Given the description of an element on the screen output the (x, y) to click on. 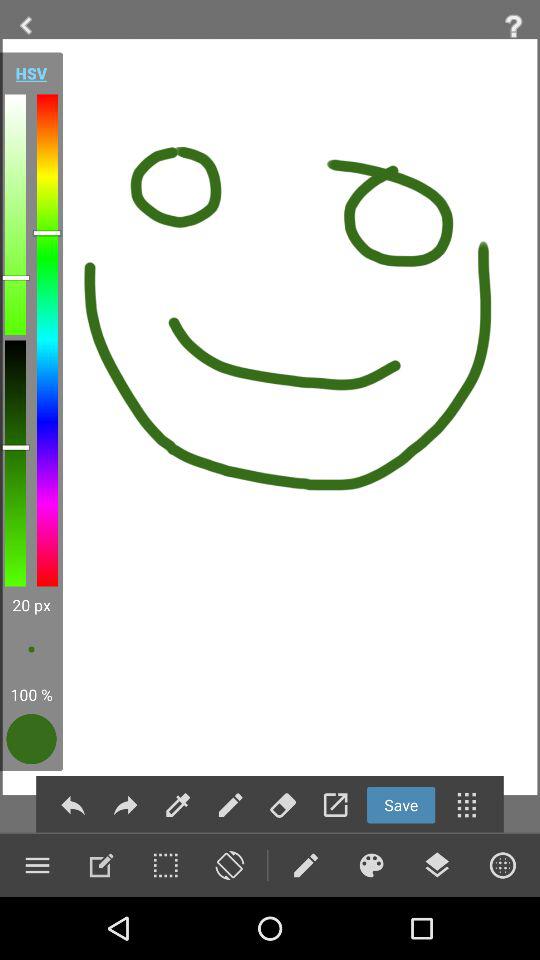
click to the check box (165, 865)
